Given the description of an element on the screen output the (x, y) to click on. 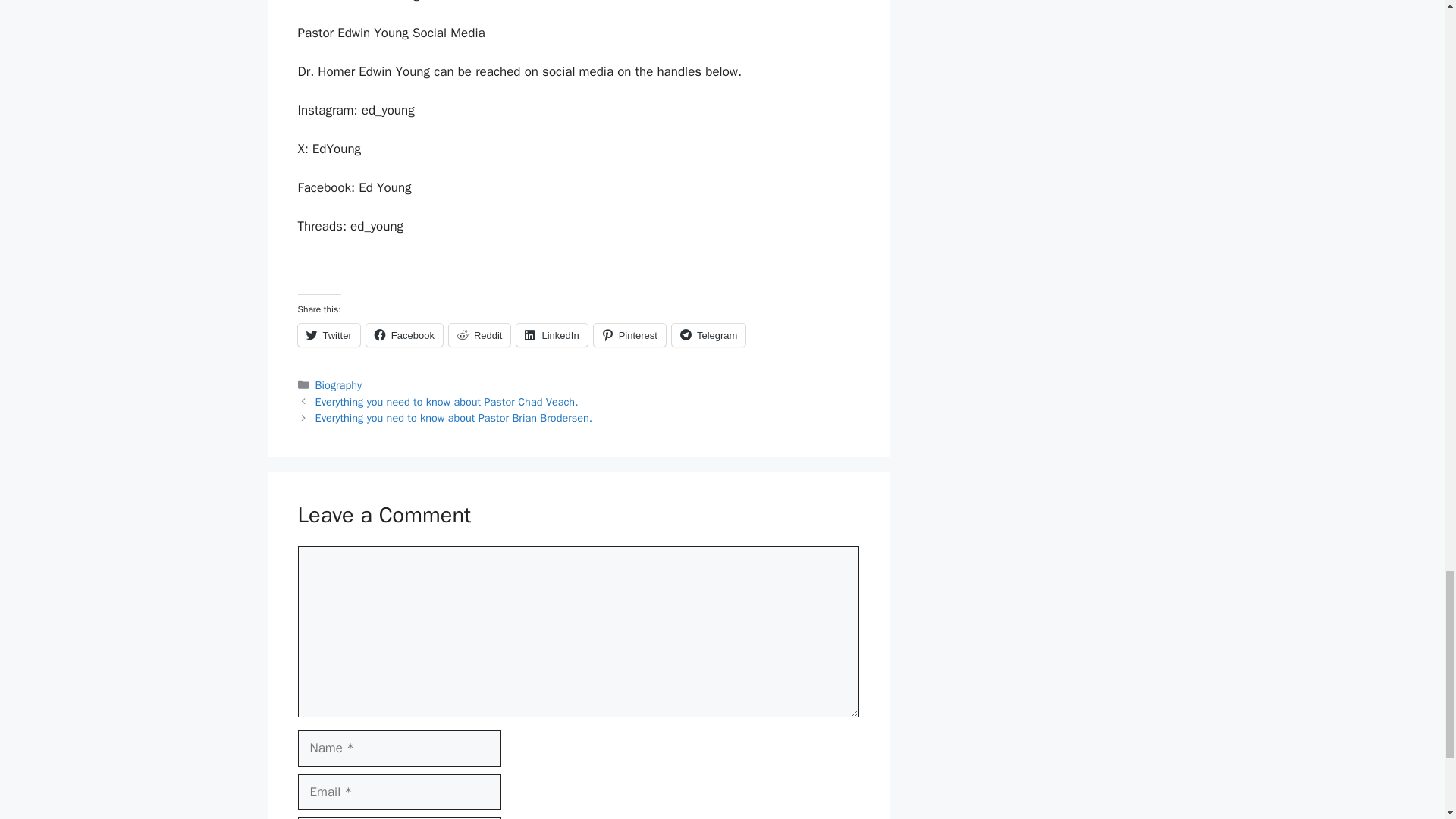
Telegram (708, 334)
Click to share on LinkedIn (551, 334)
Click to share on Reddit (479, 334)
Pinterest (629, 334)
Click to share on Twitter (328, 334)
Twitter (328, 334)
Everything you need to know about Pastor Chad Veach. (446, 401)
LinkedIn (551, 334)
Facebook (404, 334)
Everything you ned to know about Pastor Brian Brodersen. (453, 418)
Biography (338, 385)
Reddit (479, 334)
Click to share on Telegram (708, 334)
Click to share on Pinterest (629, 334)
Click to share on Facebook (404, 334)
